Given the description of an element on the screen output the (x, y) to click on. 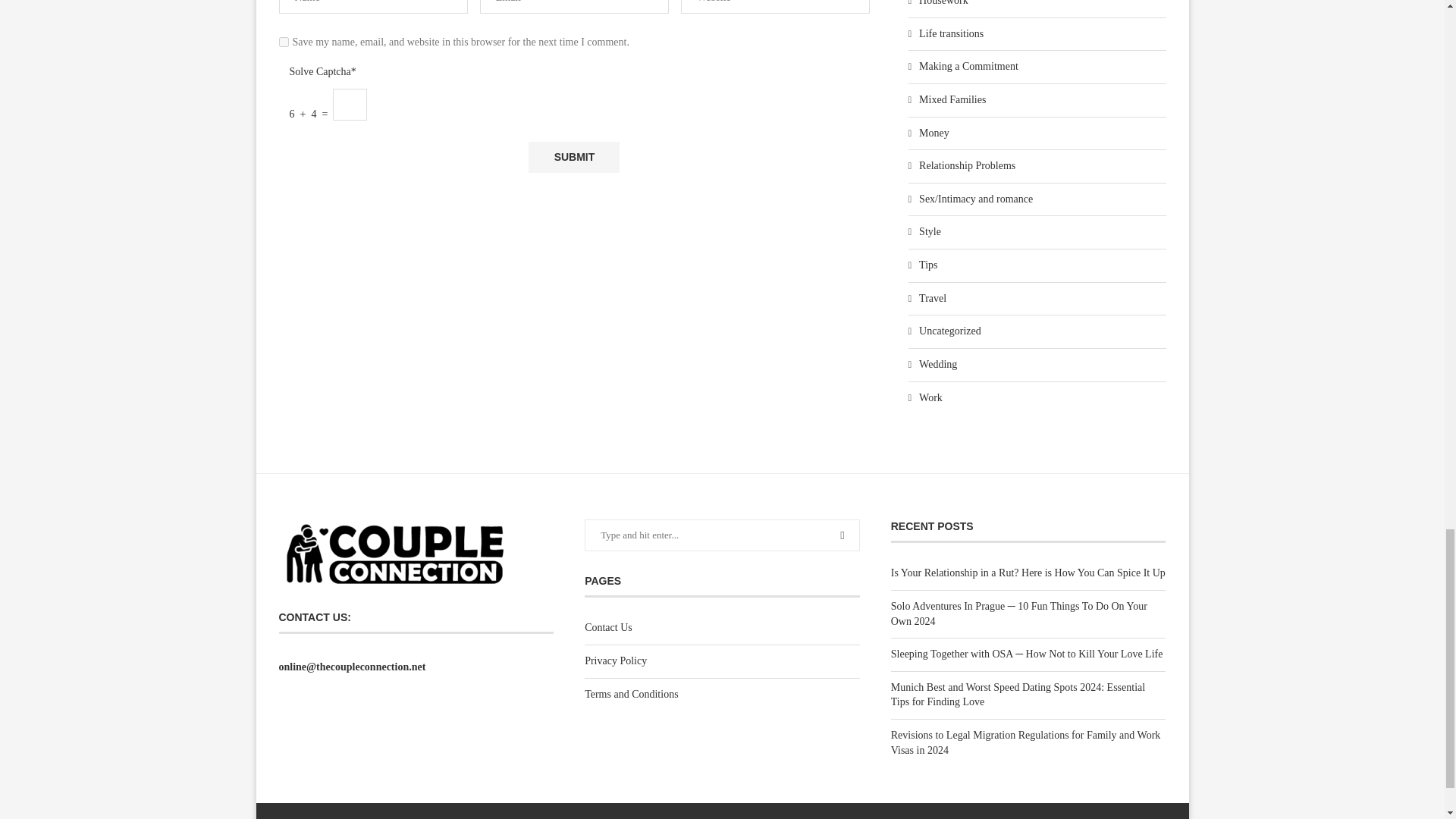
Submit (574, 156)
yes (283, 41)
